Given the description of an element on the screen output the (x, y) to click on. 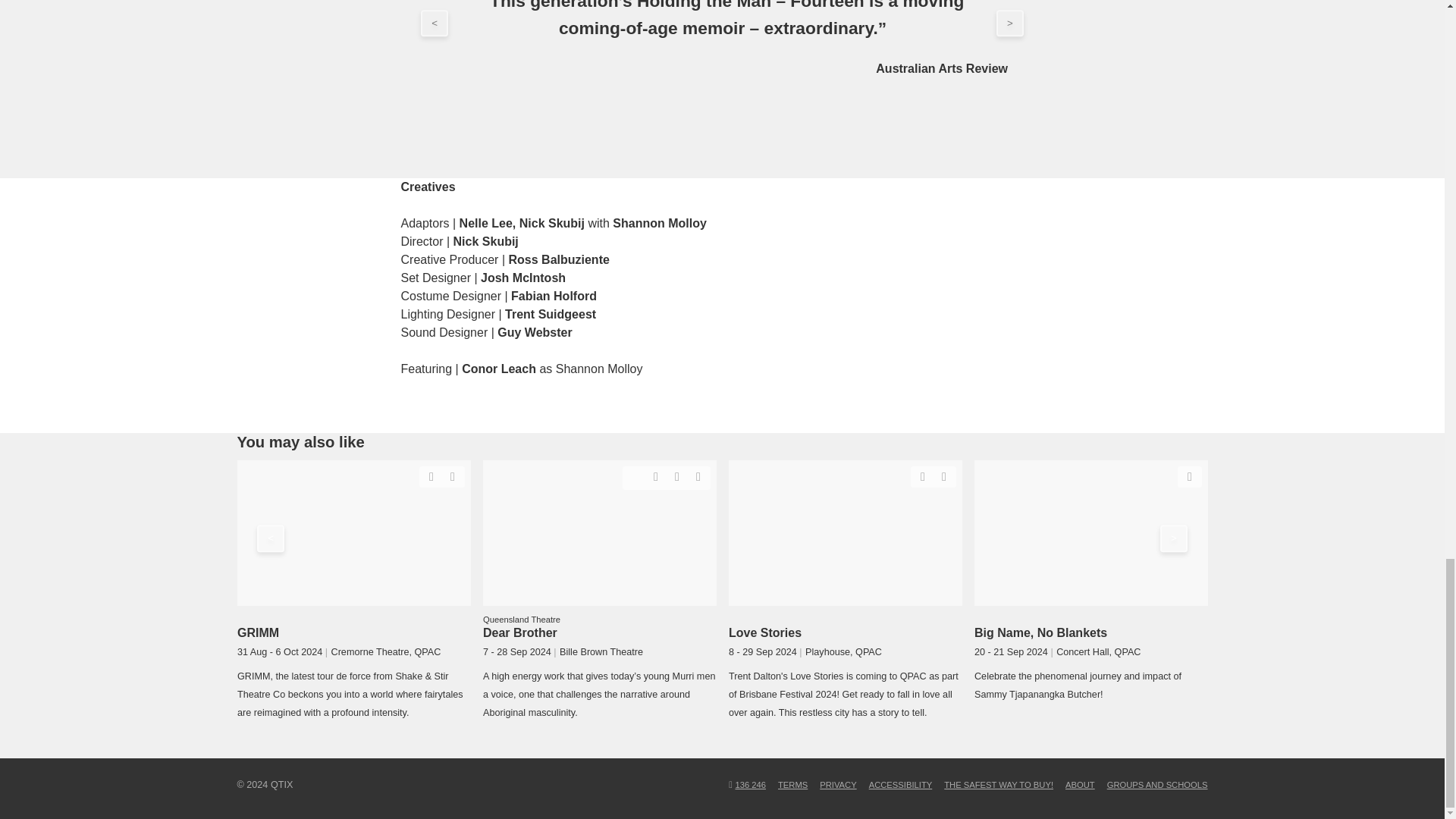
Relaxed performance available (633, 474)
Audio Described performance available (430, 475)
Auslan Interpreted performance available (451, 475)
Audio Described performance available (654, 475)
